Given the description of an element on the screen output the (x, y) to click on. 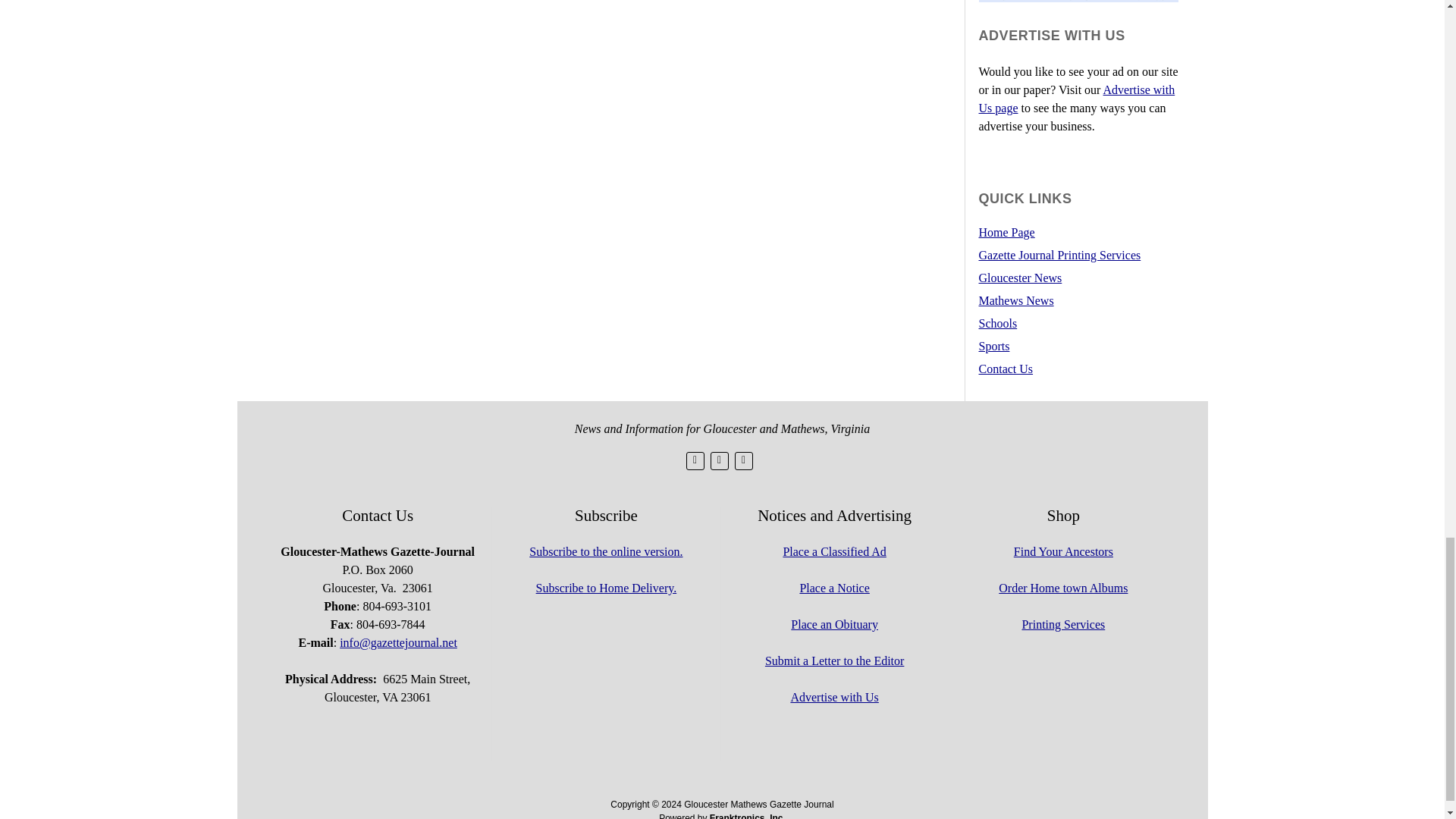
instagram (742, 461)
twitter (694, 461)
facebook (719, 461)
